Given the description of an element on the screen output the (x, y) to click on. 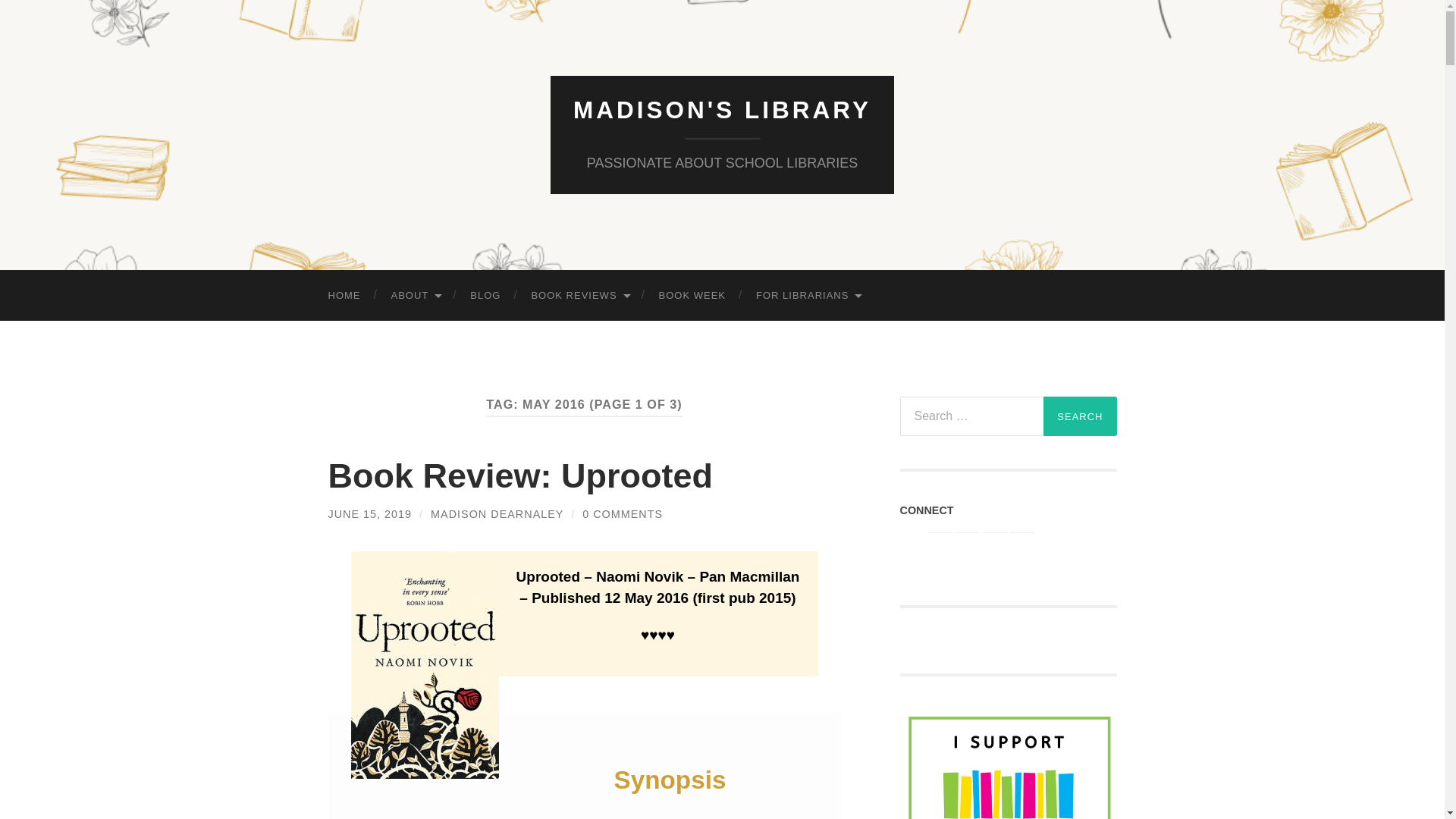
BLOG (484, 295)
Search (1079, 415)
BOOK REVIEWS (579, 295)
FOR LIBRARIANS (808, 295)
HOME (344, 295)
Search (1079, 415)
Posts by Madison Dearnaley (496, 513)
BOOK WEEK (692, 295)
ABOUT (415, 295)
MADISON'S LIBRARY (721, 109)
